Given the description of an element on the screen output the (x, y) to click on. 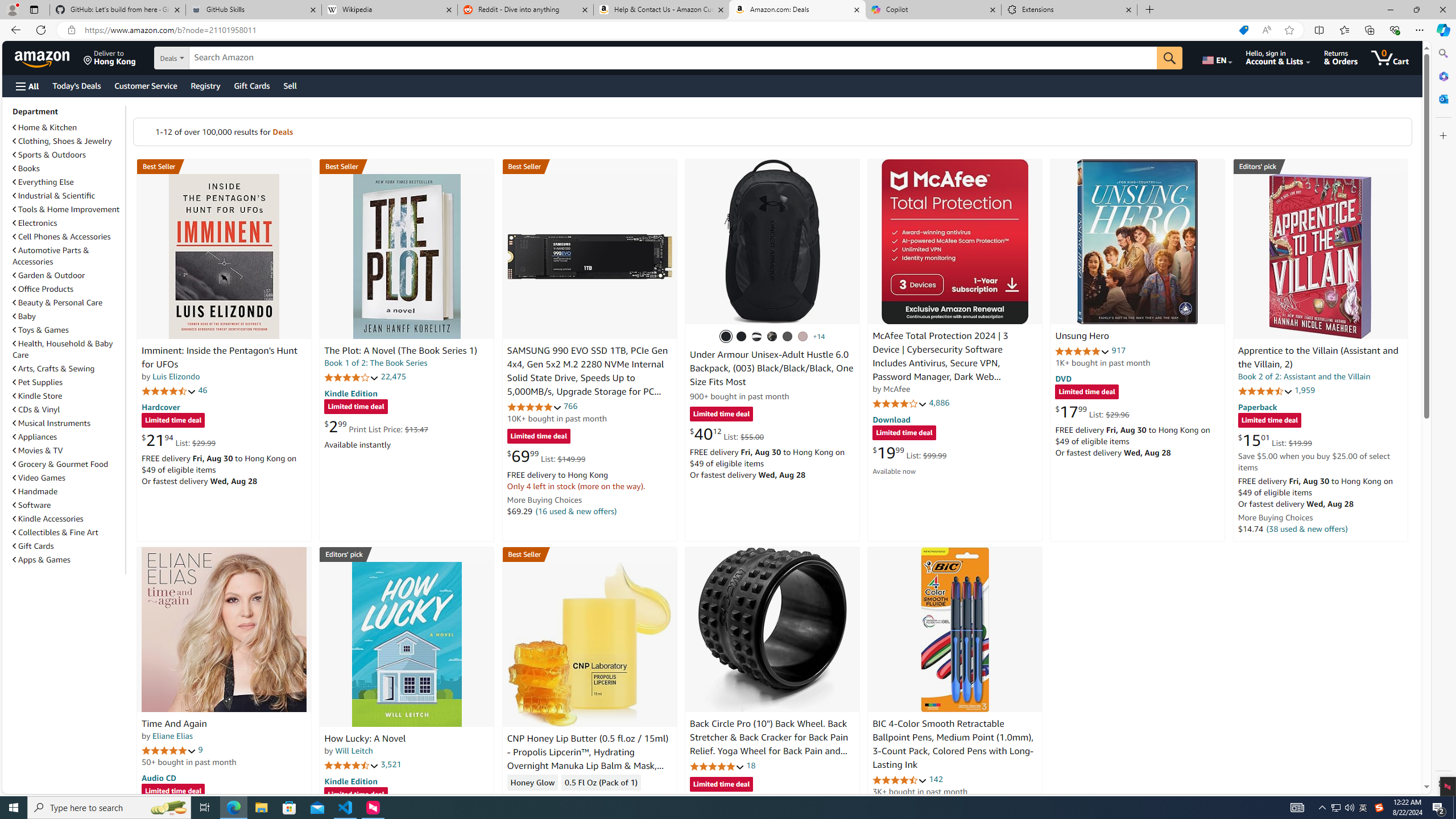
(16 used & new offers) (576, 511)
Office Products (67, 288)
+14 (818, 336)
Electronics (34, 222)
Books (67, 167)
Book 1 of 2: The Book Series (376, 362)
4.3 out of 5 stars (534, 799)
Eliane Elias (171, 735)
Handmade (35, 491)
Automotive Parts & Accessories (50, 255)
Software (31, 504)
